Given the description of an element on the screen output the (x, y) to click on. 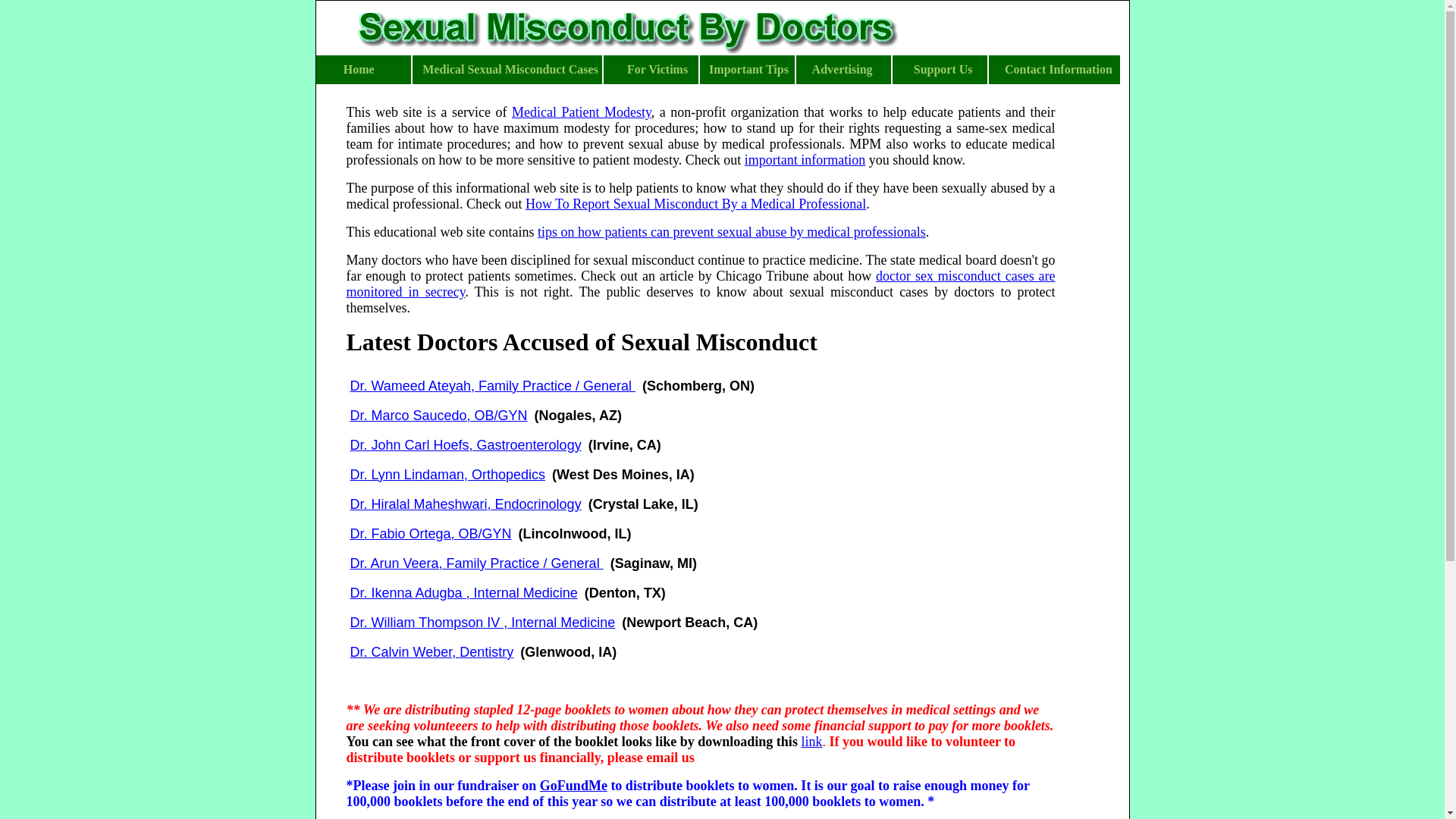
Medical Patient Modesty (581, 111)
doctor sex misconduct cases are monitored in secrecy (700, 283)
Contact Information (1058, 70)
Advertising (842, 70)
  Important Tips (746, 70)
How To Report Sexual Misconduct By a Medical Professional (695, 203)
Medical Sexual Misconduct Cases (510, 70)
Support Us (943, 70)
Dr. Lynn Lindaman, Orthopedics (447, 474)
Home (358, 70)
important information (804, 159)
Dr. Hiralal Maheshwari, Endocrinology (465, 504)
For Victims (657, 70)
Dr. John Carl Hoefs, Gastroenterology (465, 445)
